Given the description of an element on the screen output the (x, y) to click on. 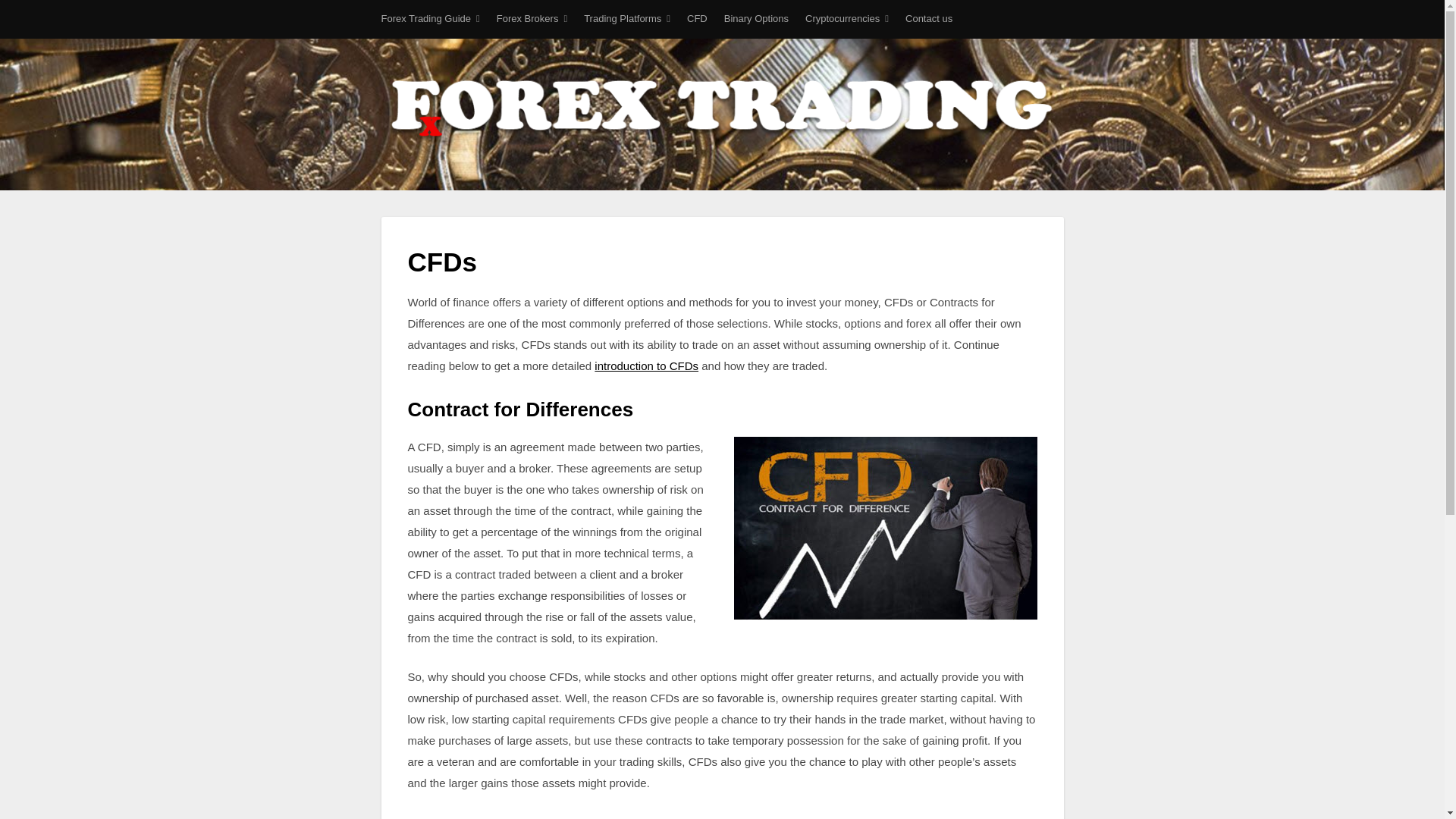
Forex Trading Guide (429, 18)
Binary Options (756, 18)
Cryptocurrencies (846, 18)
introduction to CFDs (646, 365)
Contact us (928, 18)
Trading Platforms (626, 18)
Forex Brokers (531, 18)
